Given the description of an element on the screen output the (x, y) to click on. 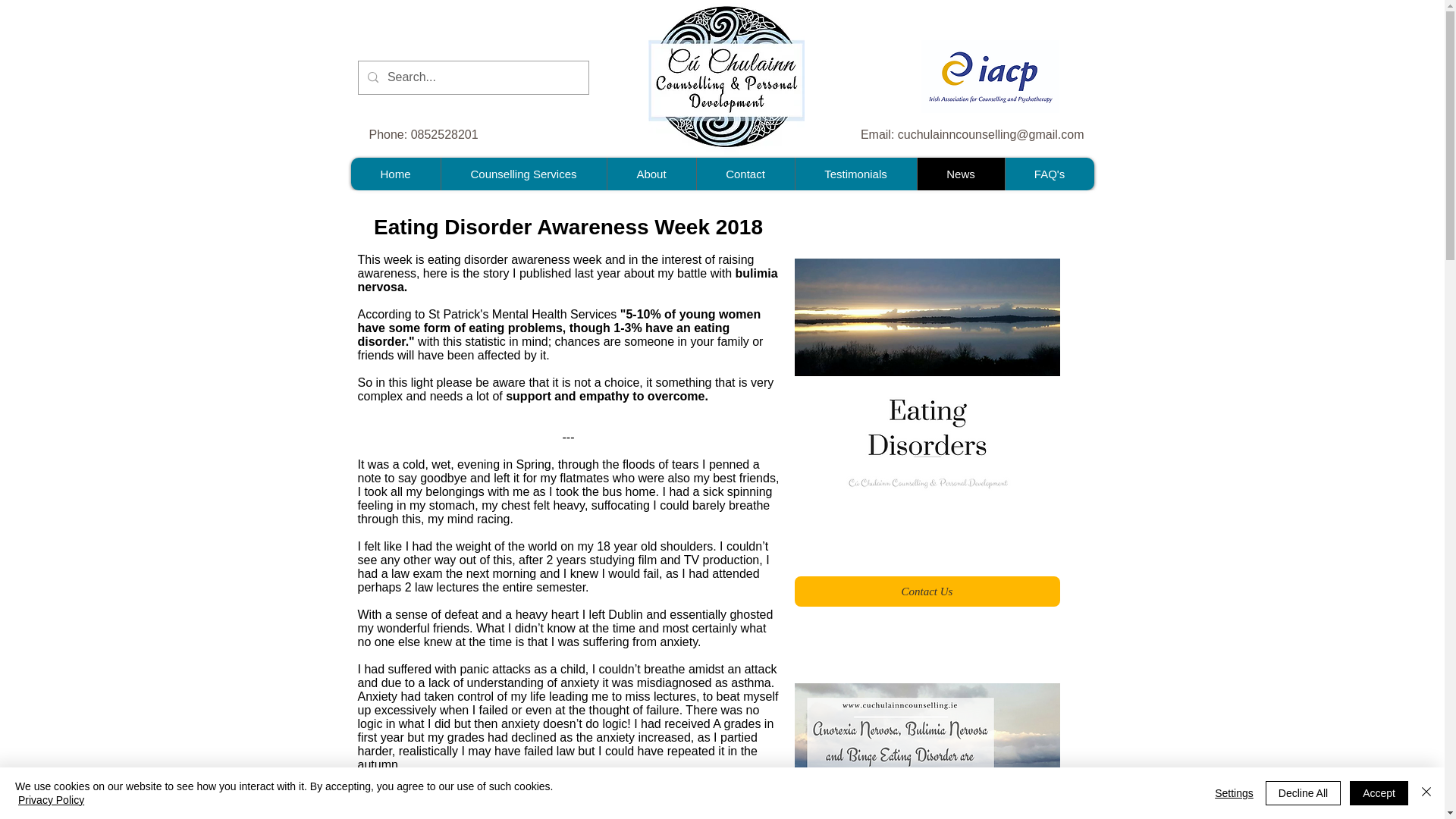
About (651, 174)
eating disorders decoded (926, 751)
Accept (1378, 793)
Phone: 0852528201 (438, 134)
FAQ's (1048, 174)
Counselling Services (522, 174)
Contact (744, 174)
Contact Us (926, 591)
Privacy Policy (50, 799)
Decline All (1302, 793)
News (959, 174)
Testimonials (855, 174)
Home (394, 174)
